Given the description of an element on the screen output the (x, y) to click on. 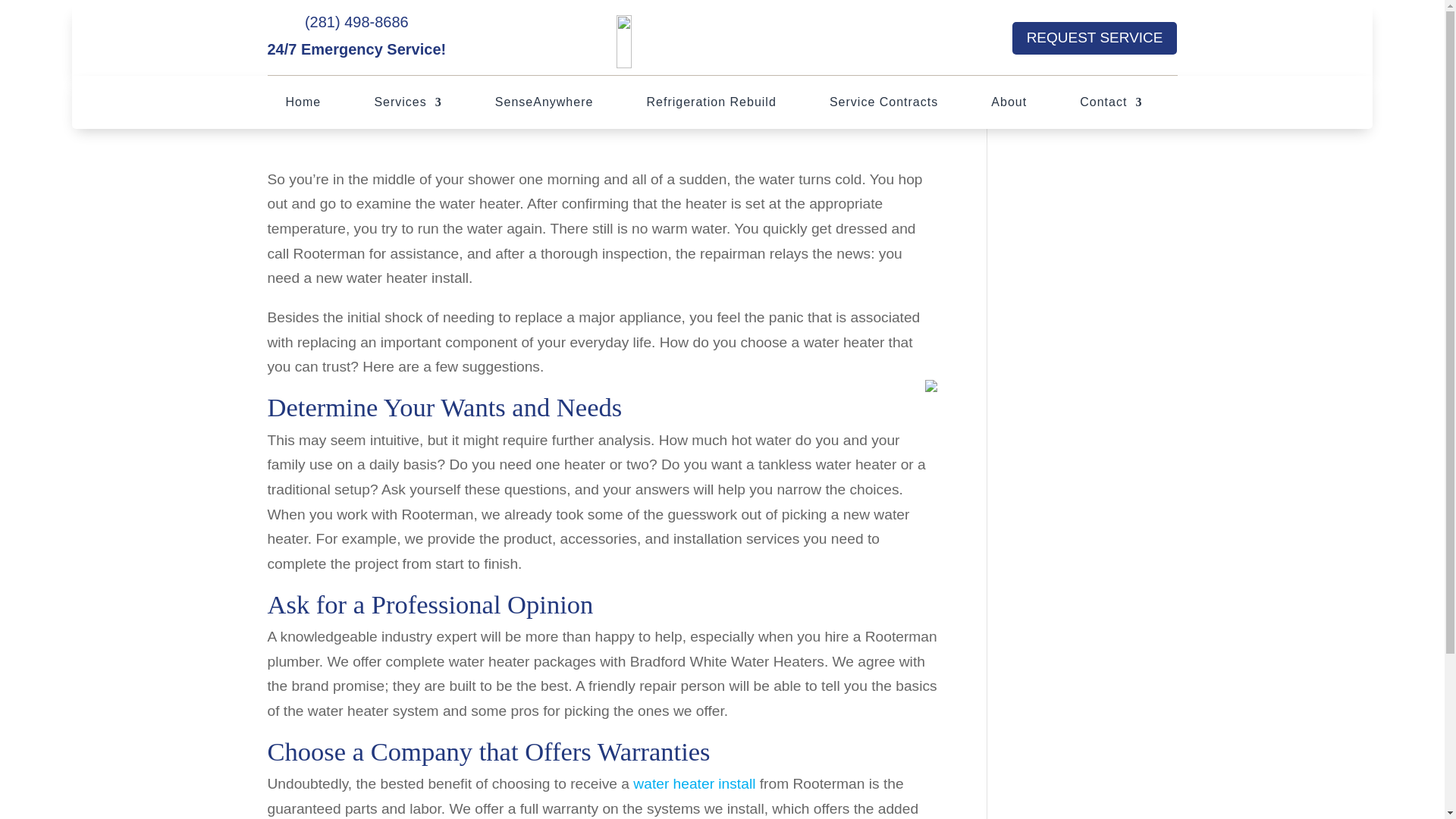
About (1008, 105)
support (299, 115)
Plumbing (419, 115)
water heater install (694, 783)
Contact (1110, 105)
logo-new-border (728, 41)
Posts by support (299, 115)
Services (407, 105)
SenseAnywhere (544, 105)
Service Contracts (883, 105)
Home (303, 105)
REQUEST SERVICE (1094, 38)
Refrigeration Rebuild (711, 105)
